Given the description of an element on the screen output the (x, y) to click on. 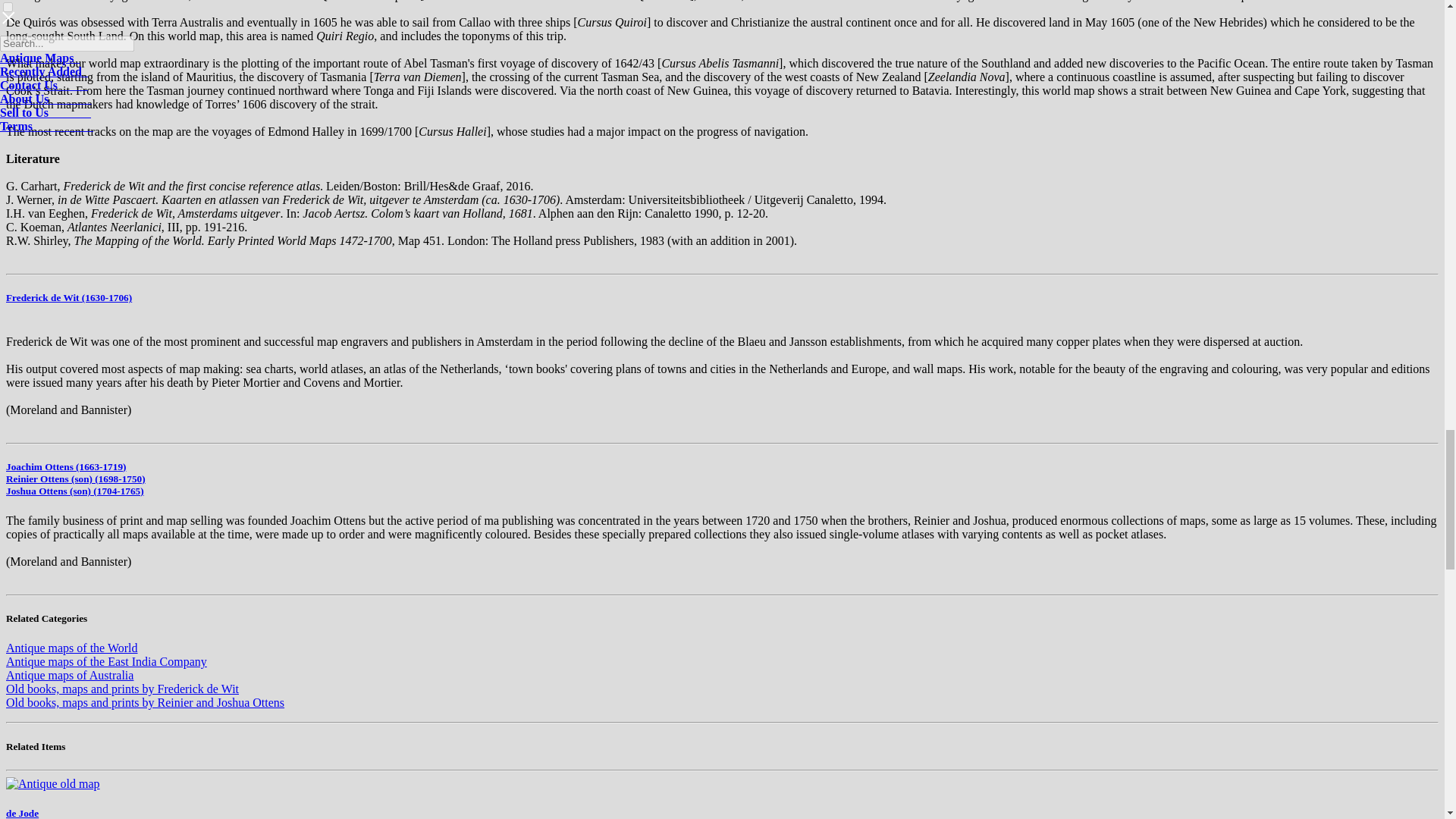
Old books, maps and prints by Frederick de Wit (121, 688)
Antique maps of the World (71, 647)
Old books, maps and prints by Reinier and Joshua Ottens (144, 702)
Antique maps of the East India Company (105, 661)
Antique maps of Australia (69, 675)
Antique map of the World by de Jode (52, 784)
